Given the description of an element on the screen output the (x, y) to click on. 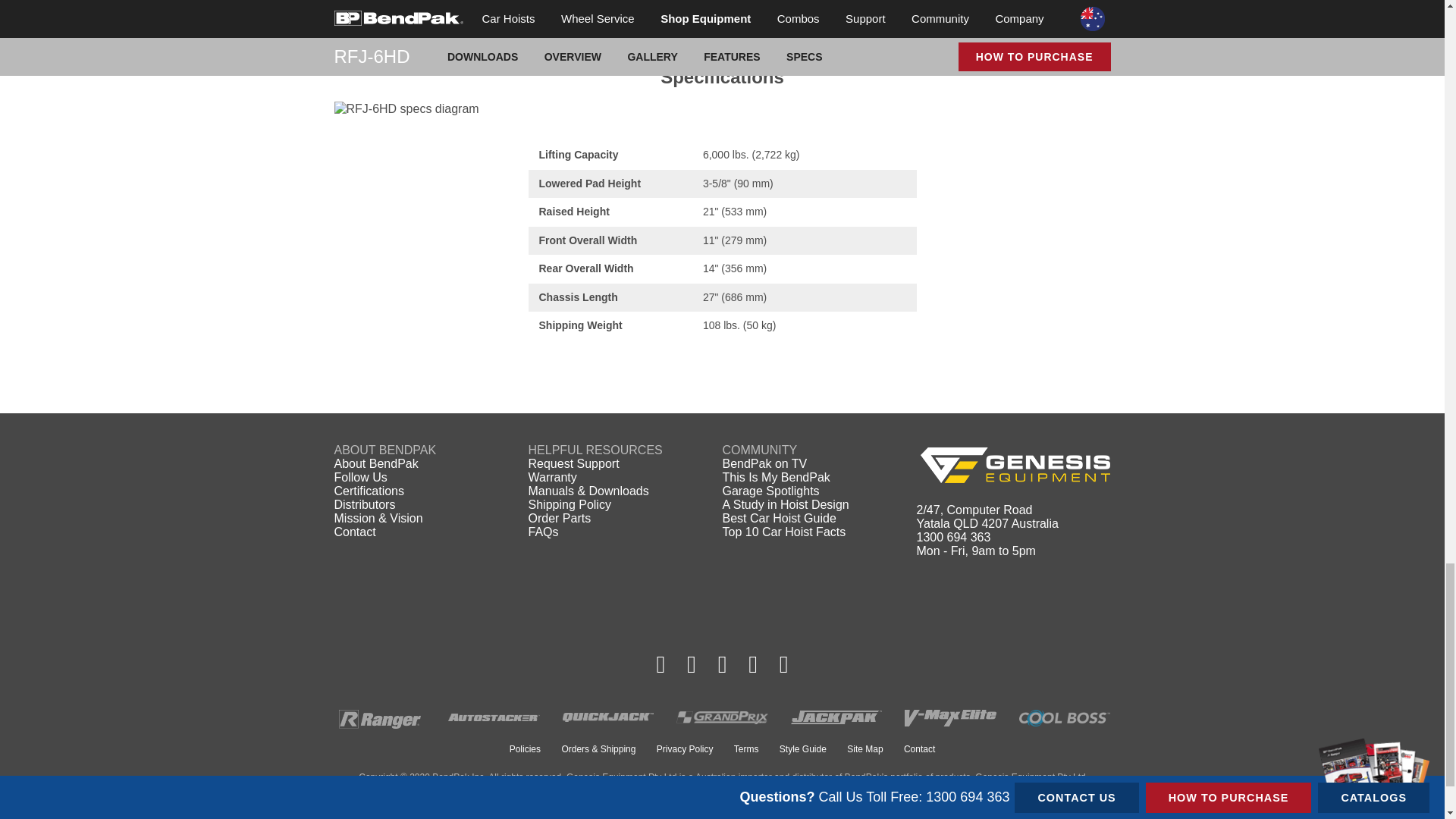
Follow BendPak on Twitter (722, 664)
BendPak Blog (783, 664)
Follow BendPak on YouTube (753, 664)
Follow BendPak on Facebook (660, 664)
